Given the description of an element on the screen output the (x, y) to click on. 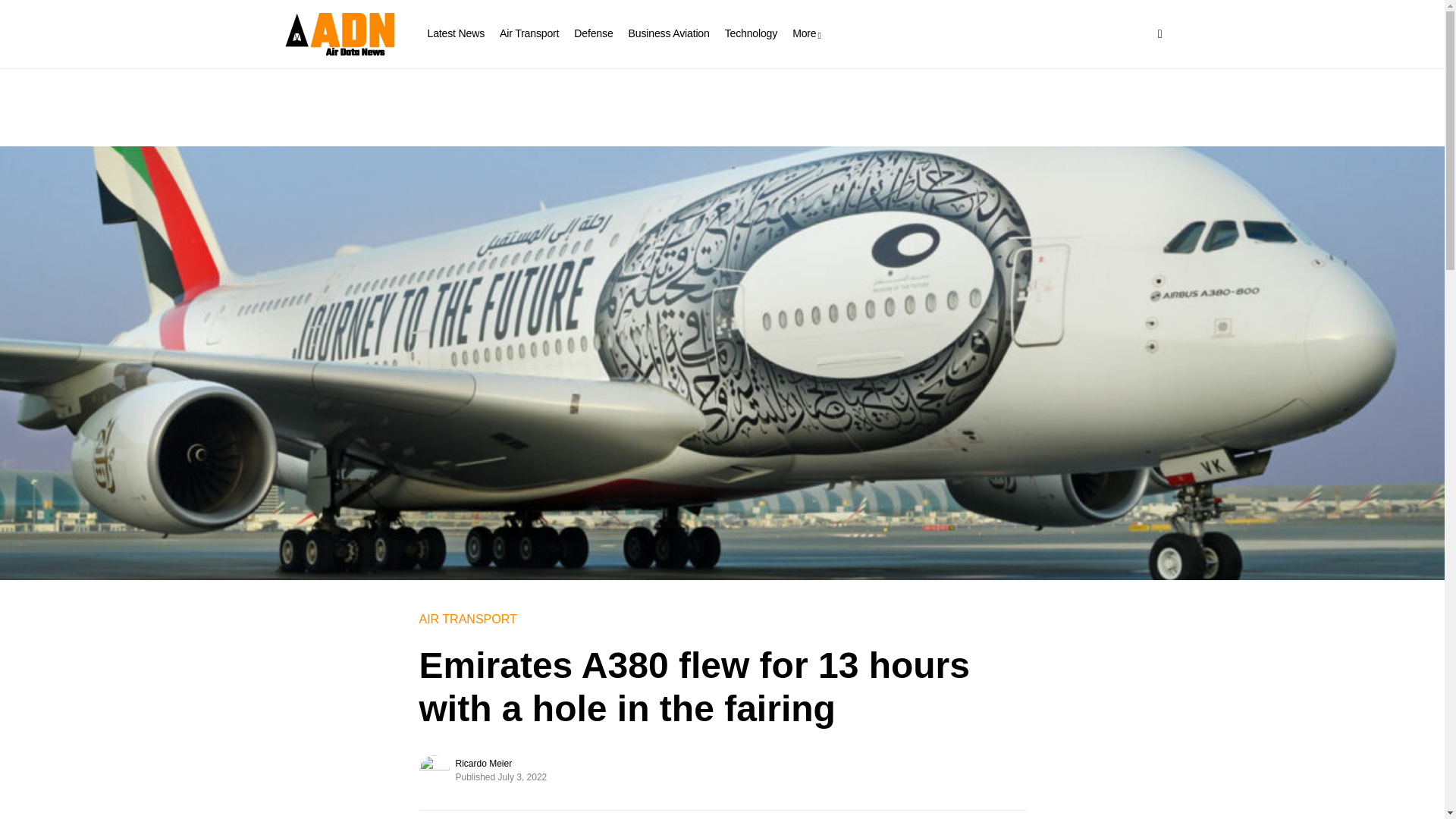
AIR TRANSPORT (467, 618)
Ricardo Meier (483, 763)
Business Aviation (669, 33)
